Given the description of an element on the screen output the (x, y) to click on. 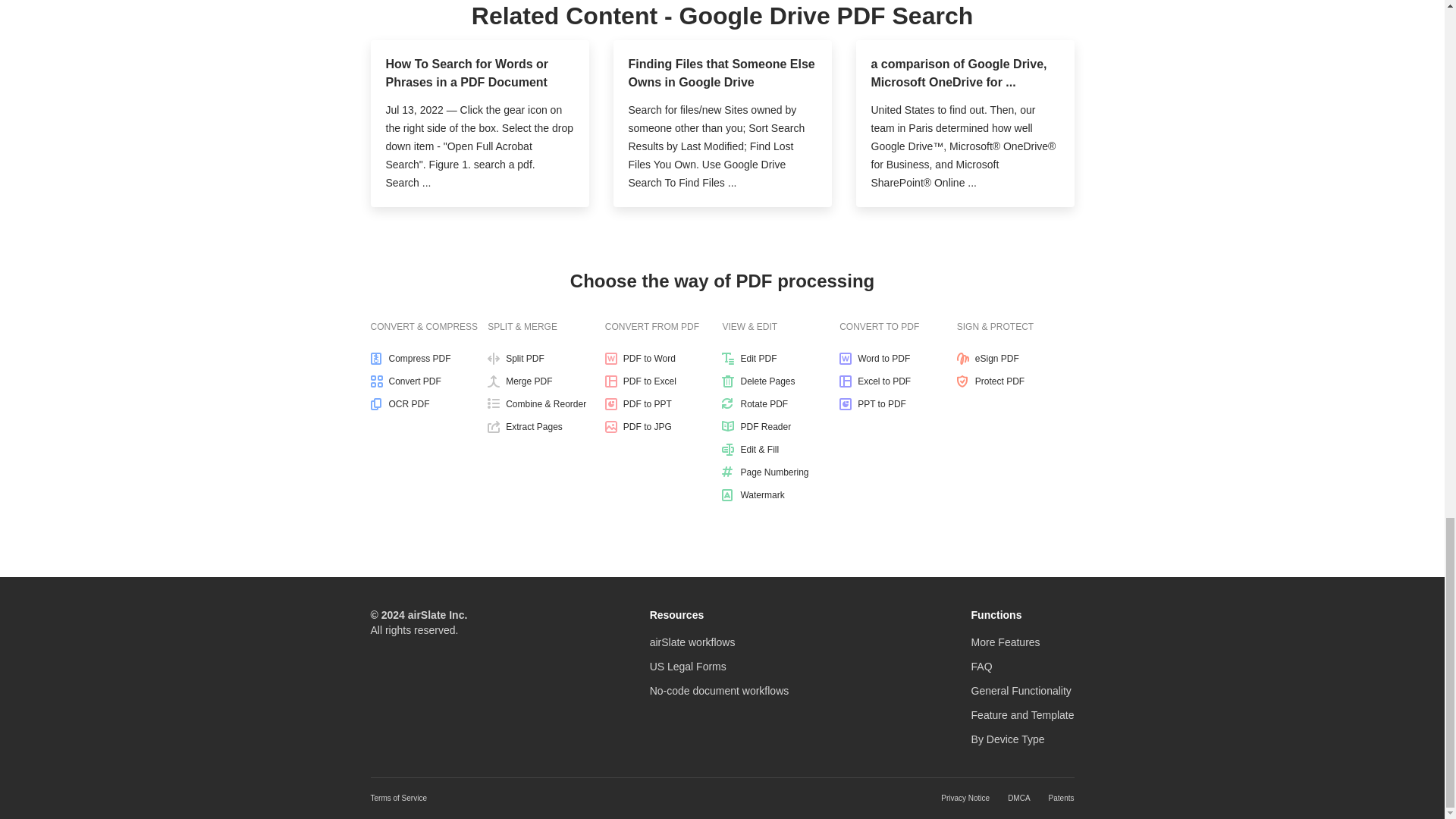
Watermark (781, 494)
Extract Pages (546, 426)
Split PDF (546, 358)
Delete Pages (781, 381)
Word to PDF (898, 358)
PDF to JPG (663, 426)
eSign PDF (1015, 358)
PDF to Excel (663, 381)
OCR PDF (428, 404)
Edit PDF (781, 358)
